Given the description of an element on the screen output the (x, y) to click on. 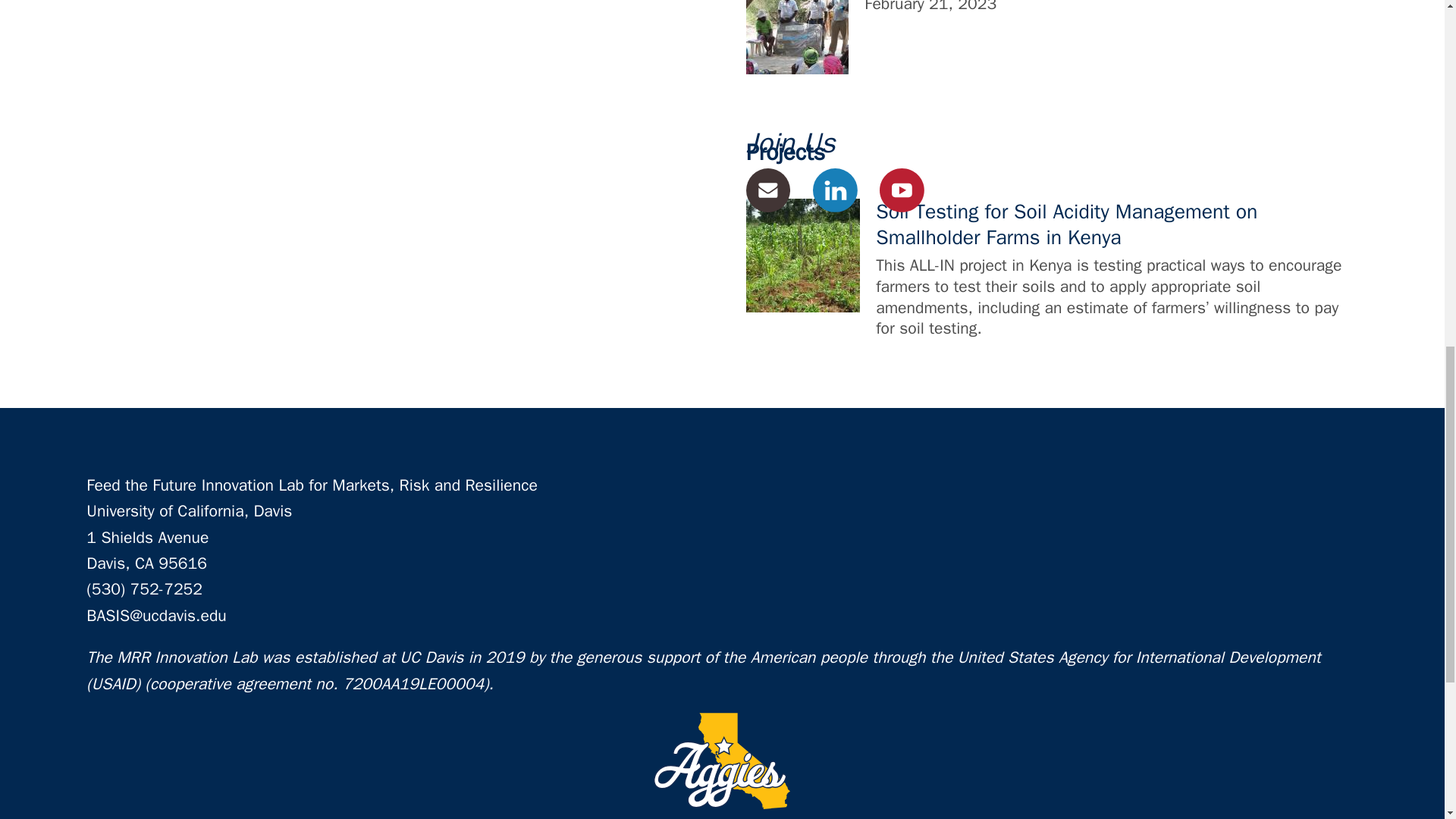
Tuesday, February 21, 2023 - 12:02pm (930, 6)
